Given the description of an element on the screen output the (x, y) to click on. 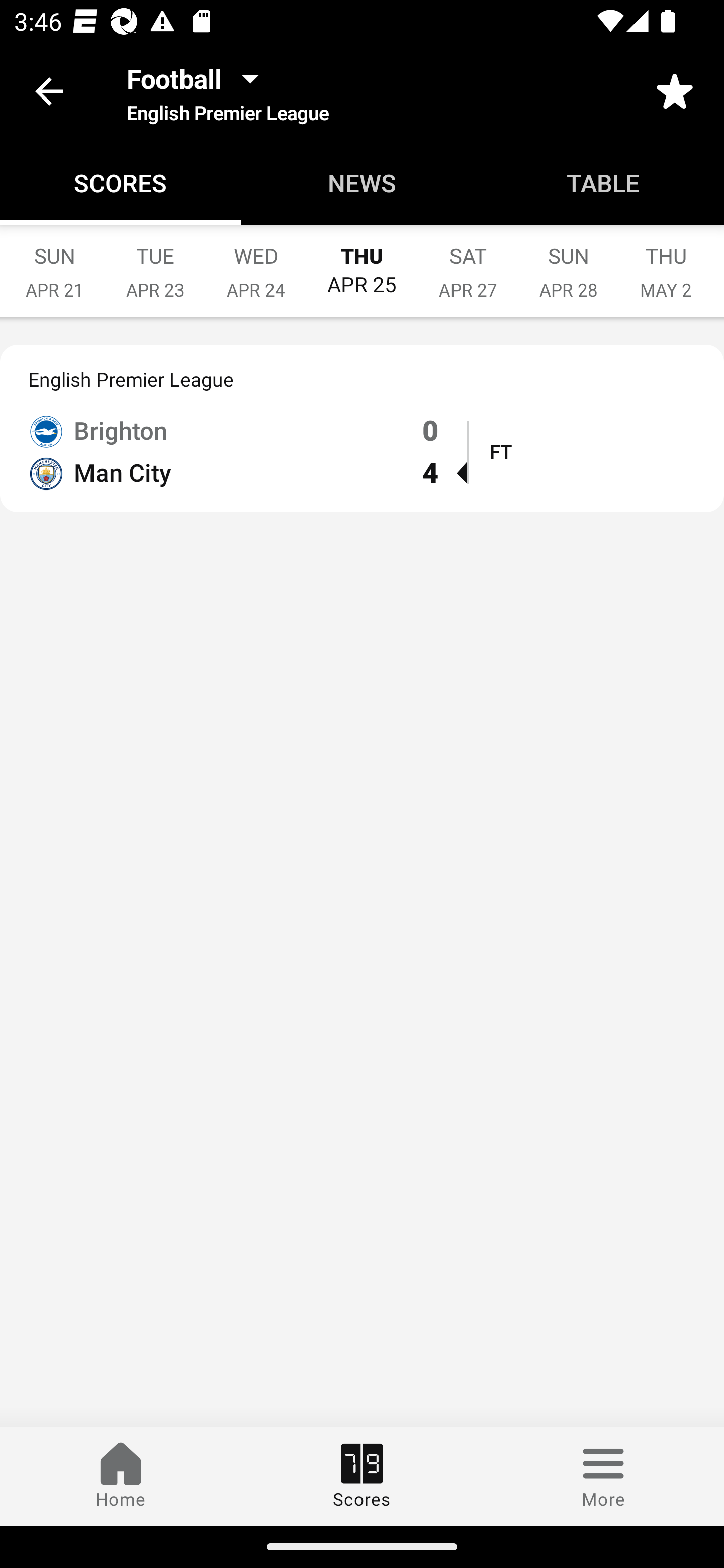
Football English Premier League (227, 90)
Favorite toggle (674, 90)
News NEWS (361, 183)
Table TABLE (603, 183)
SUN APR 21 (54, 262)
TUE APR 23 (154, 262)
WED APR 24 (255, 262)
THU APR 25 (361, 261)
SAT APR 27 (467, 262)
SUN APR 28 (568, 262)
THU MAY 2 (666, 262)
English Premier League Brighton 0 Man City 4  FT (362, 428)
Home (120, 1475)
More (603, 1475)
